Given the description of an element on the screen output the (x, y) to click on. 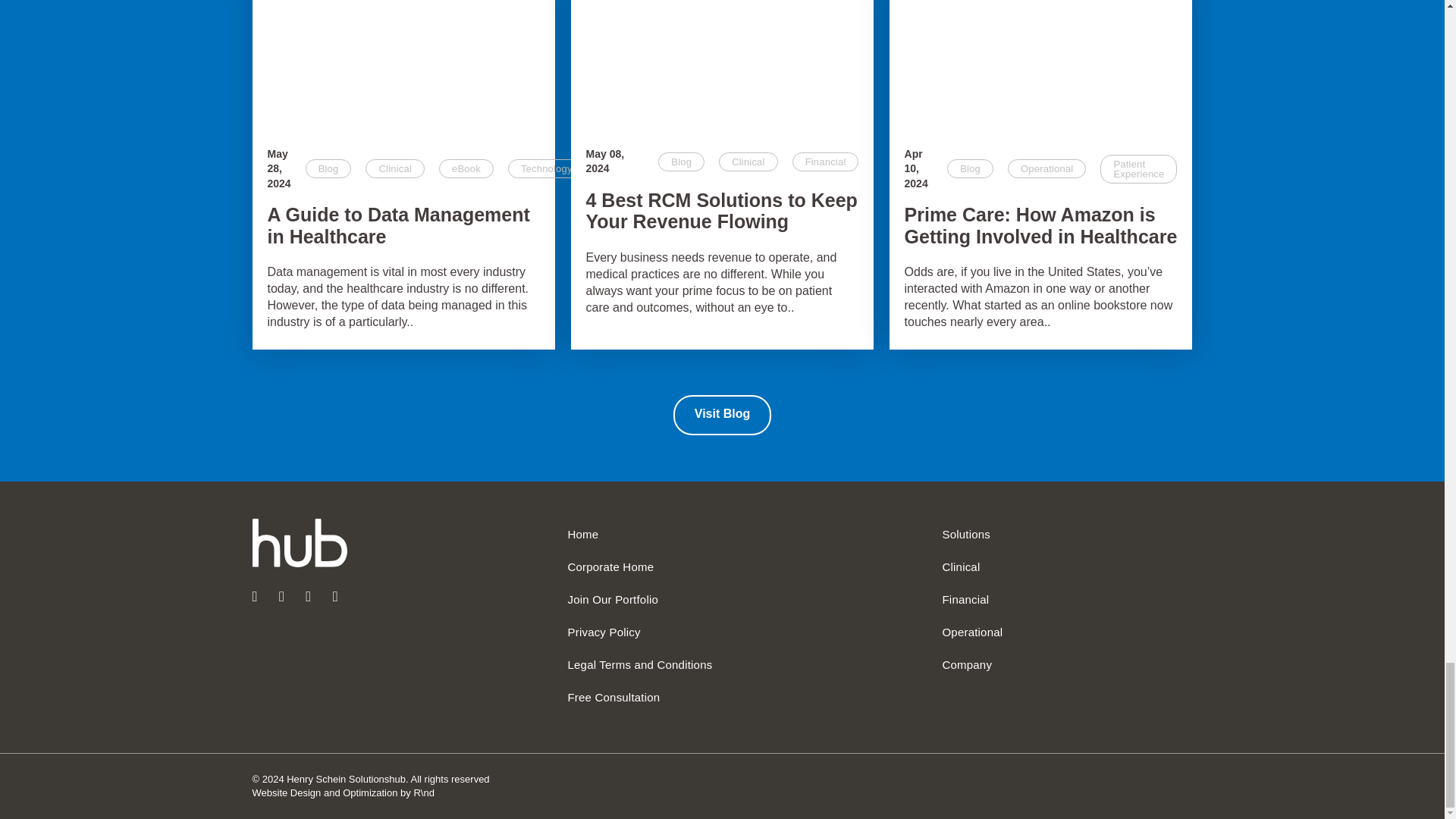
4 Best RCM Solutions to Keep Your Revenue Flowing (722, 211)
Prime Care: How Amazon is Getting Involved in Healthcare (1040, 225)
A Guide to Data Management in Healthcare (402, 65)
Prime Care: How Amazon is Getting Involved in Healthcare (1040, 65)
A Guide to Data Management in Healthcare (403, 225)
4 Best RCM Solutions to Keep Your Revenue Flowing (722, 65)
